Given the description of an element on the screen output the (x, y) to click on. 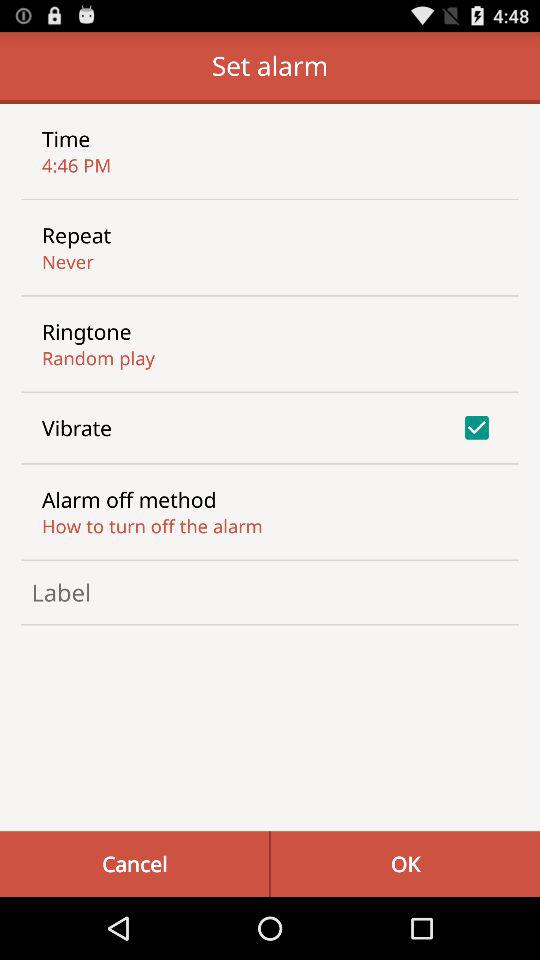
open icon above random play item (86, 331)
